Given the description of an element on the screen output the (x, y) to click on. 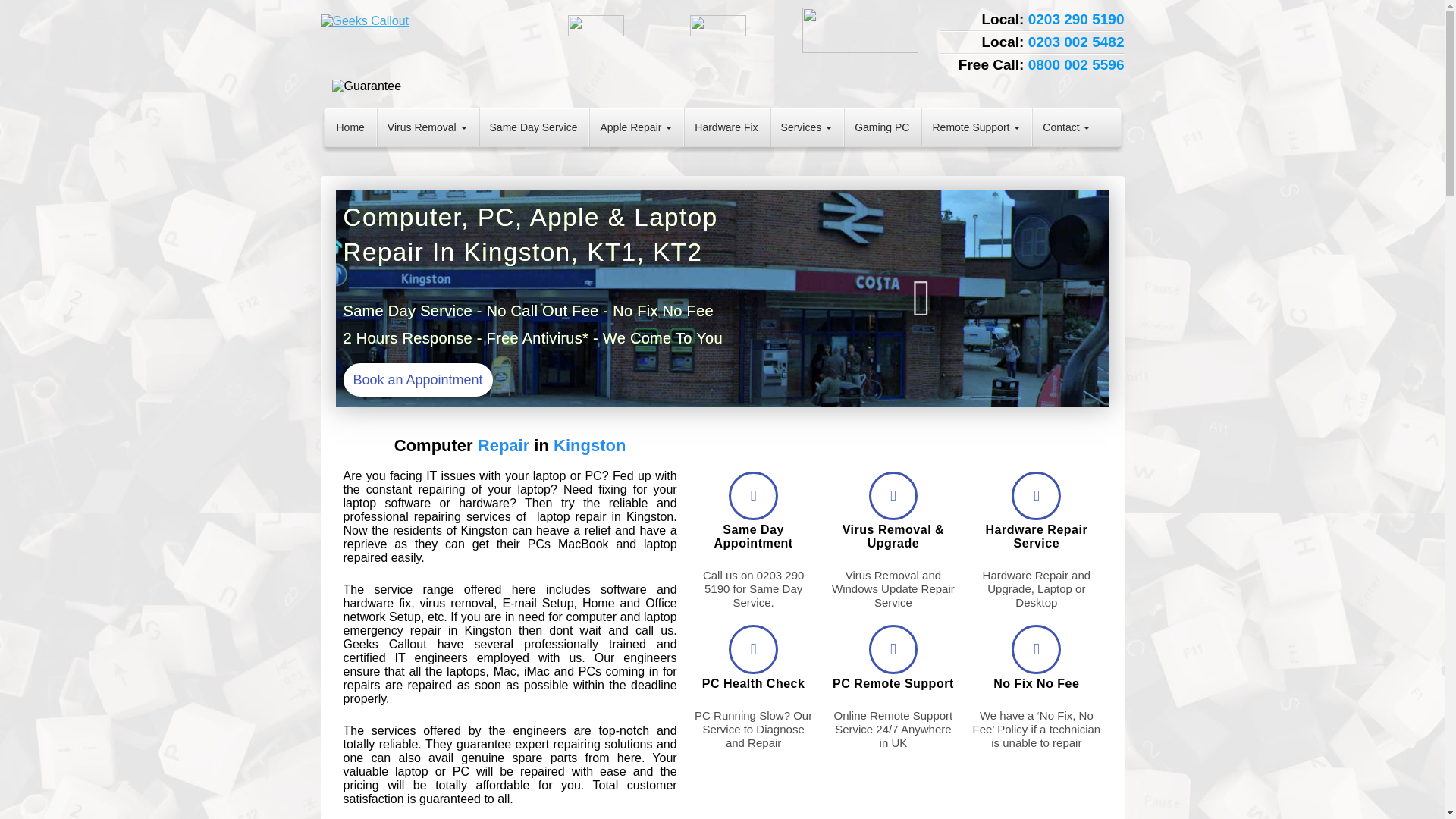
0800 002 5596 (1075, 64)
Book an Appointment (413, 379)
Remote Support (975, 127)
Home (349, 127)
Same Day Service (534, 127)
0203 290 5190 (1075, 19)
Hardware Fix (725, 127)
Services (807, 127)
Virus Removal (427, 127)
Gaming PC (881, 127)
Apple Repair (635, 127)
Contact (1065, 127)
0203 002 5482 (1075, 41)
